Given the description of an element on the screen output the (x, y) to click on. 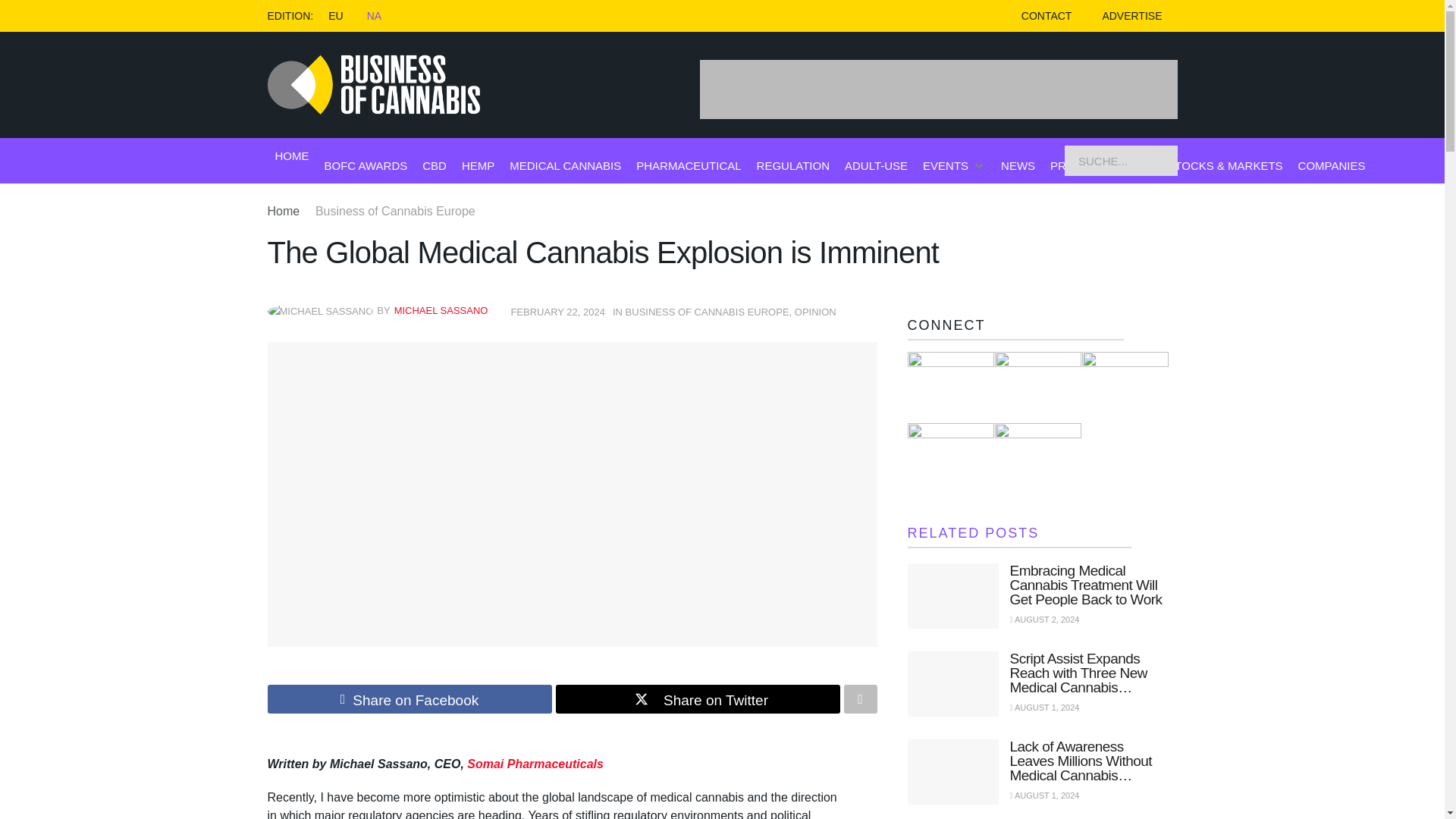
COMPANIES (1331, 165)
MEDICAL CANNABIS (565, 165)
Share on Facebook (408, 698)
ADULT-USE (875, 165)
CBD (434, 165)
Share on Twitter (697, 698)
Business of Cannabis Europe (395, 210)
HEMP (478, 165)
REGULATION (793, 165)
HOME (291, 156)
